Given the description of an element on the screen output the (x, y) to click on. 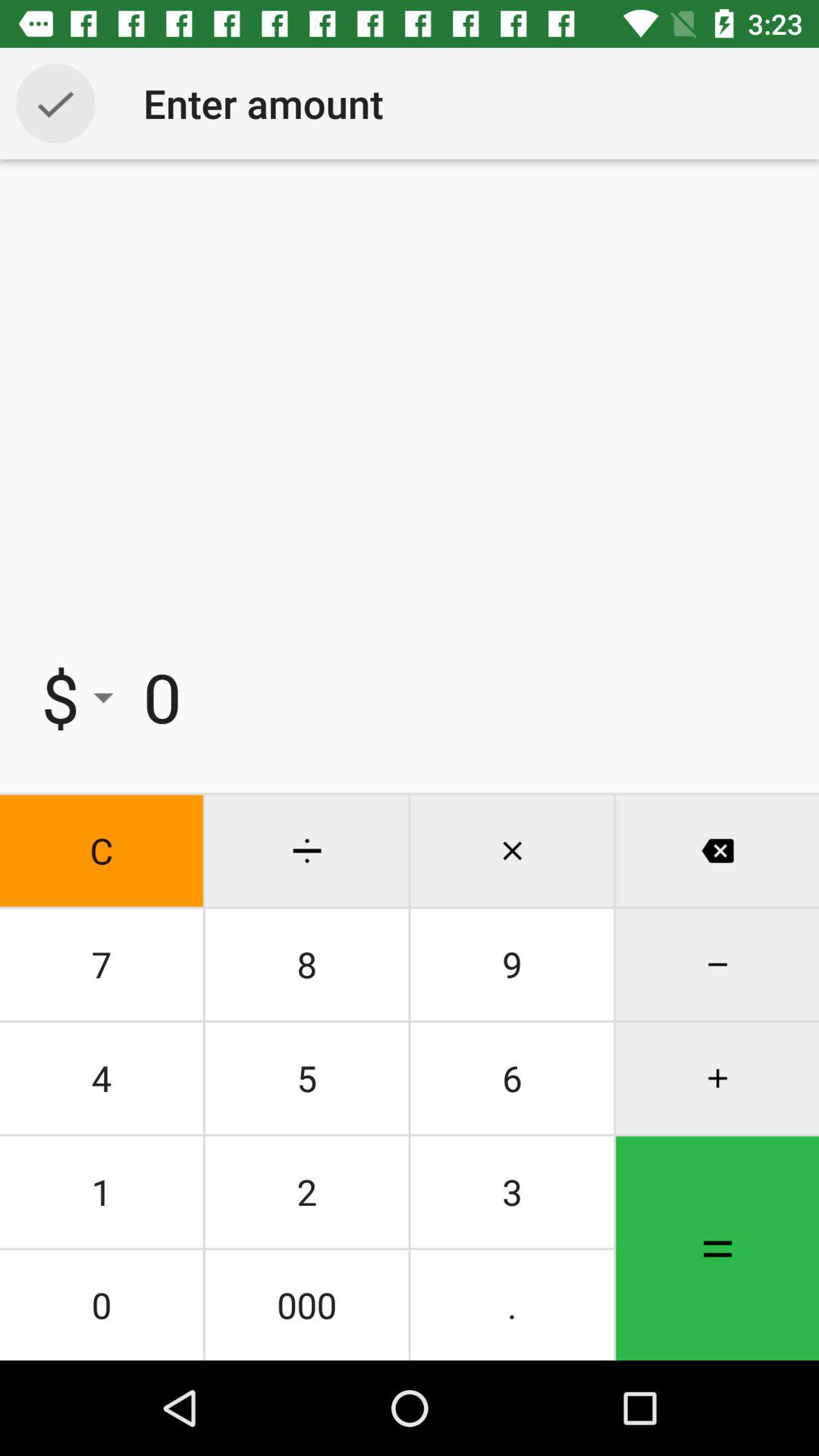
turn on the icon below the 7 item (101, 1078)
